Given the description of an element on the screen output the (x, y) to click on. 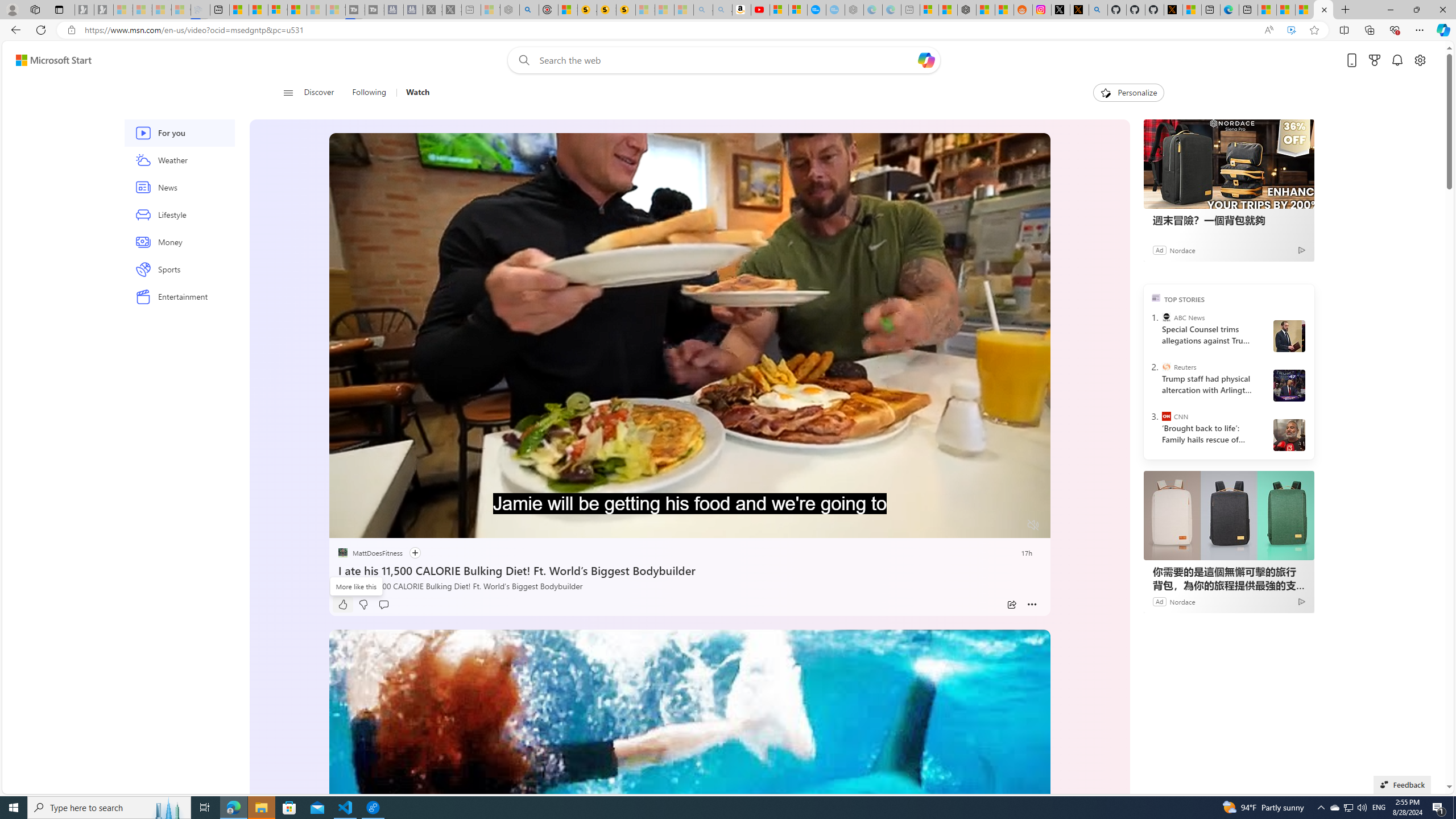
Shanghai, China Weather trends | Microsoft Weather (1004, 9)
Following (370, 92)
Amazon Echo Dot PNG - Search Images - Sleeping (721, 9)
ABC News (1165, 316)
CNN (1165, 415)
Pause (346, 525)
Michelle Starr, Senior Journalist at ScienceAlert (625, 9)
Captions (988, 525)
